Given the description of an element on the screen output the (x, y) to click on. 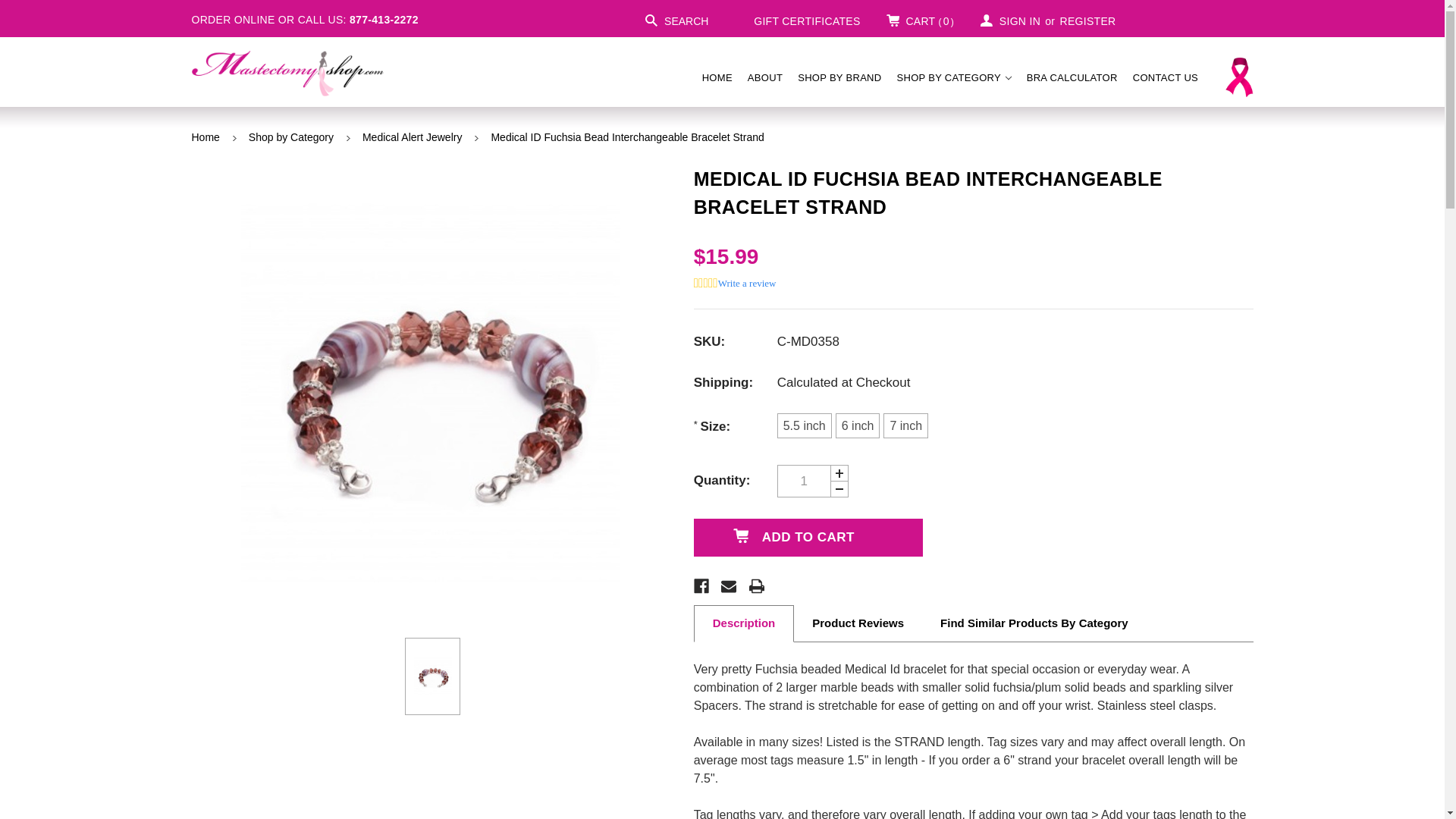
SHOP BY BRAND (839, 77)
SHOP BY CATEGORY (954, 77)
Mastectomy Shop (286, 73)
GIFT CERTIFICATES (797, 20)
CART 0 (919, 20)
SEARCH (676, 20)
1 (803, 481)
HOME (716, 77)
REGISTER (1087, 20)
Smile.io Rewards Program Launcher (54, 780)
ABOUT (764, 77)
Add to Cart (808, 537)
877-413-2272 (384, 19)
